Given the description of an element on the screen output the (x, y) to click on. 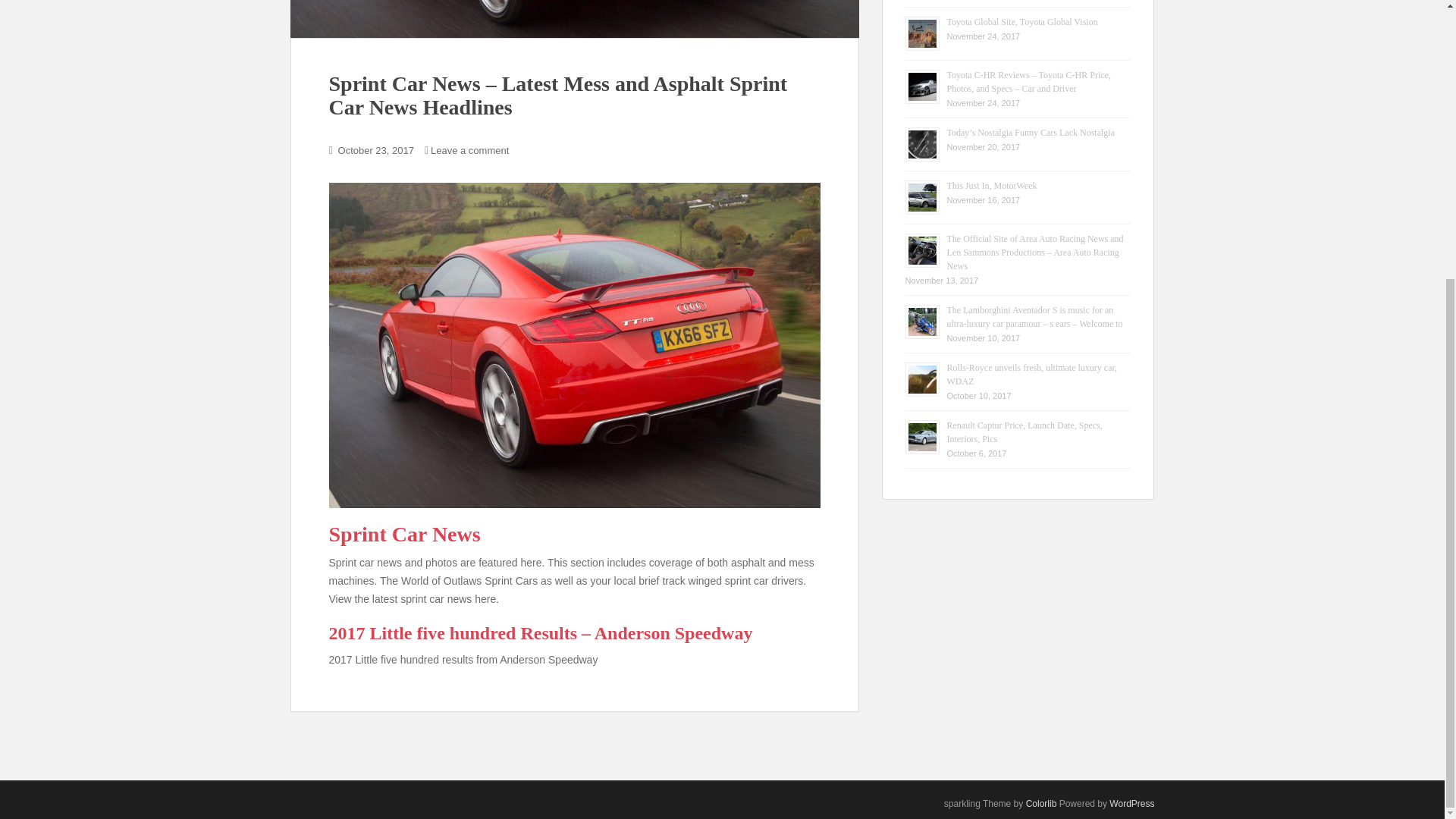
Permalink to This Just In, MotorWeek (991, 185)
Renault Captur Price, Launch Date, Specs, Interiors, Pics (1024, 432)
Colorlib (1041, 803)
This Just In, MotorWeek (991, 185)
October 23, 2017 (375, 150)
Toyota Global Site, Toyota Global Vision (1021, 21)
Leave a comment (469, 150)
Permalink to Toyota Global Site, Toyota Global Vision (1021, 21)
Rolls-Royce unveils fresh, ultimate luxury car, WDAZ (1031, 374)
